Given the description of an element on the screen output the (x, y) to click on. 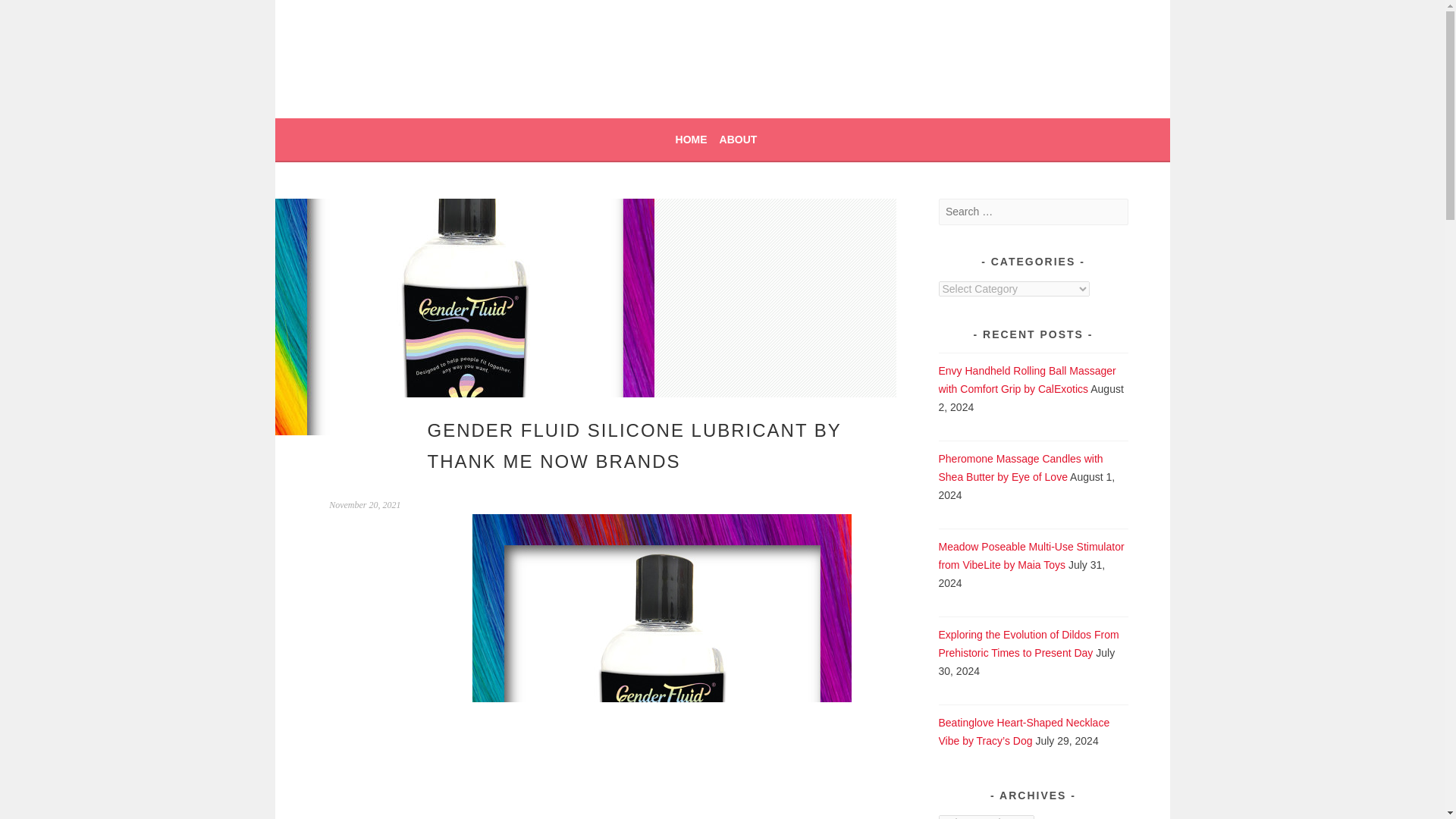
HOME (691, 139)
THE RESOURCE BY MOLLY (510, 71)
ABOUT (738, 139)
The RESOURCE by Molly (510, 71)
Pheromone Massage Candles with Shea Butter by Eye of Love (1021, 467)
November 20, 2021 (364, 504)
Search (30, 13)
